Given the description of an element on the screen output the (x, y) to click on. 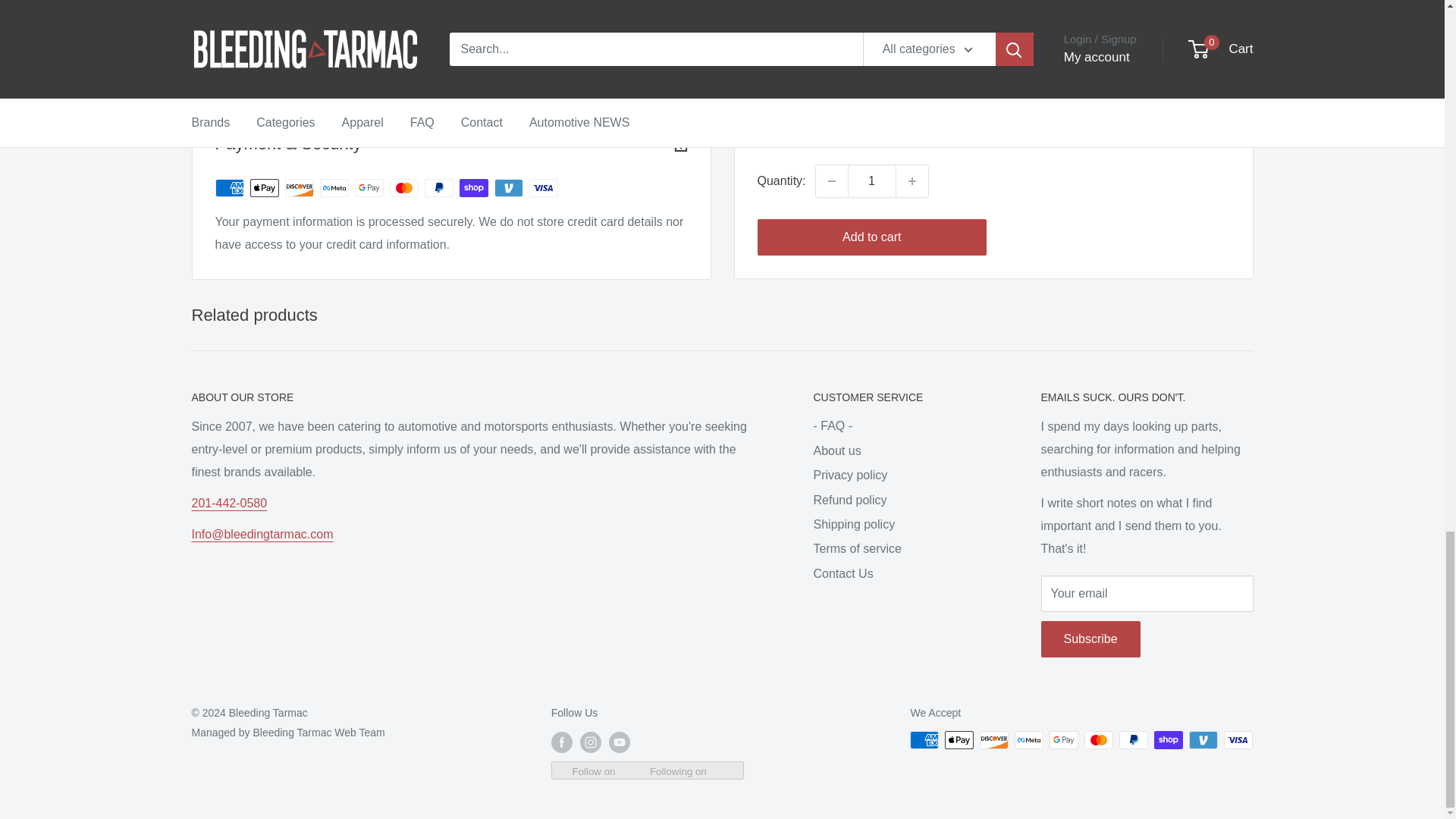
tel:201-442-0580 (228, 502)
